Given the description of an element on the screen output the (x, y) to click on. 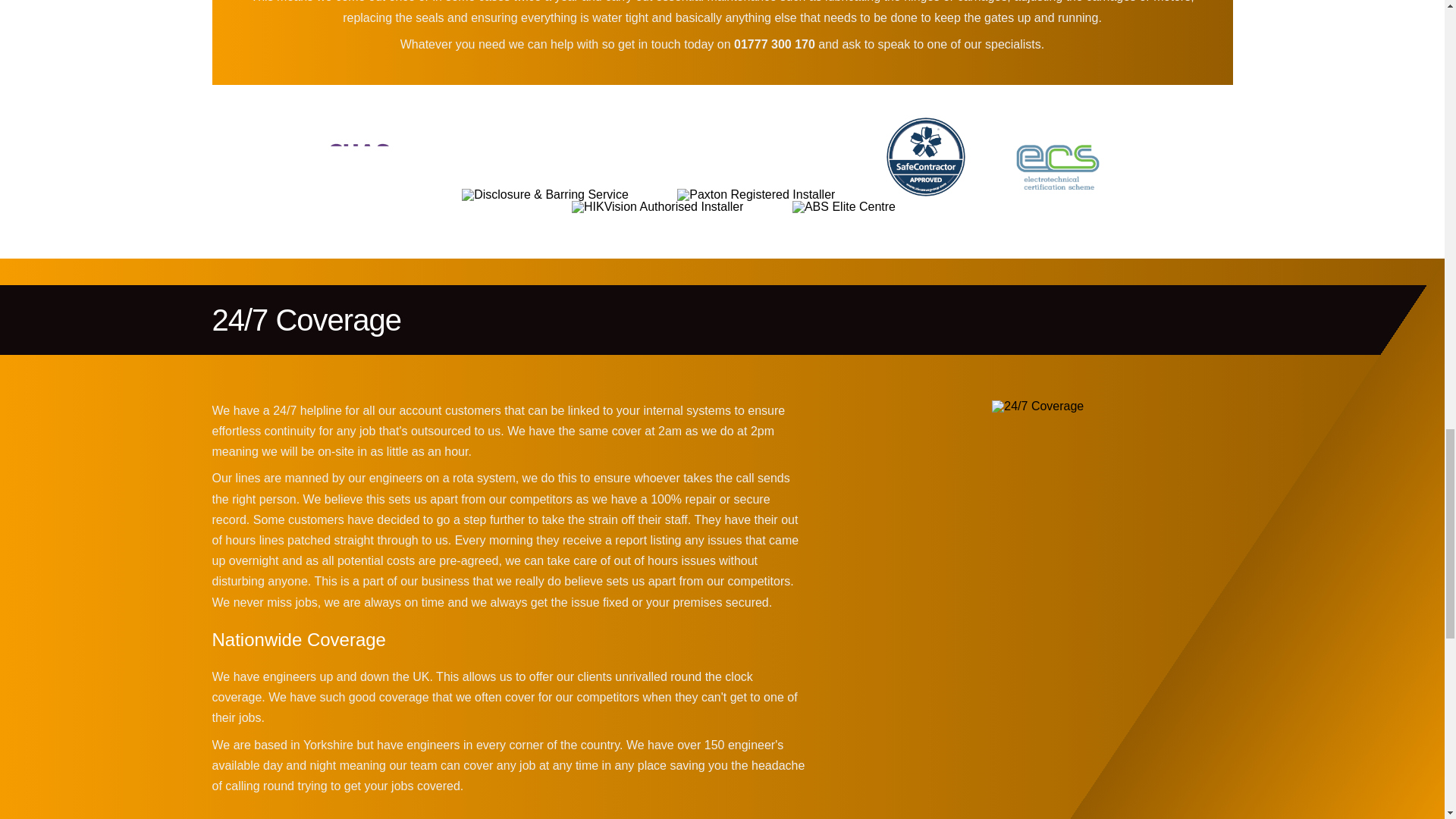
HIKVision Authorised Installer (657, 206)
ABS Elite Centre (843, 206)
Safe Contractor Approved (925, 157)
Electrotechnical Certification Scheme (1057, 162)
01777 300 170 (774, 43)
Paxton Registered Installer (755, 194)
CHAS (367, 158)
